Given the description of an element on the screen output the (x, y) to click on. 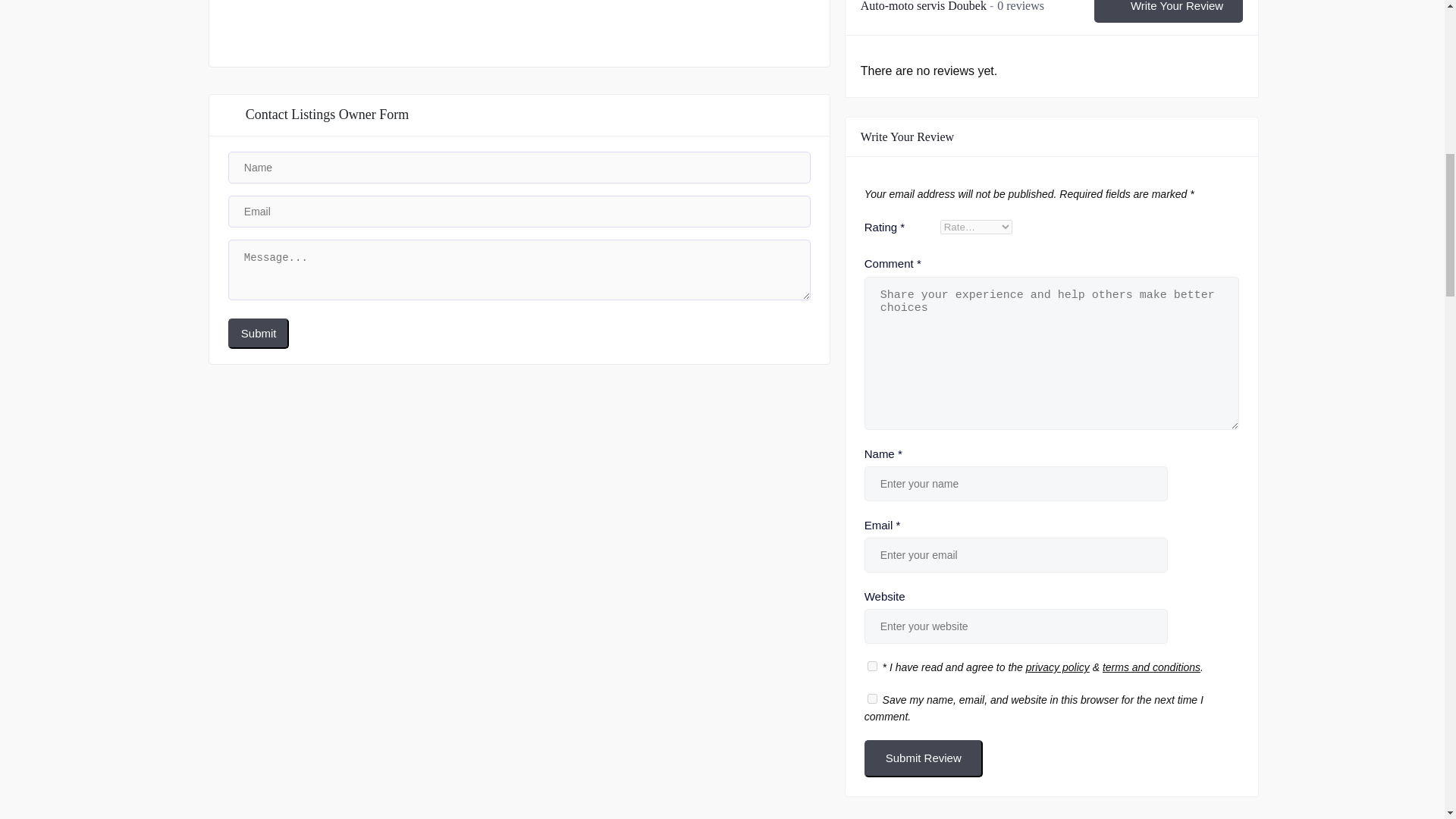
Submit (258, 333)
yes (872, 698)
yes (872, 665)
